Given the description of an element on the screen output the (x, y) to click on. 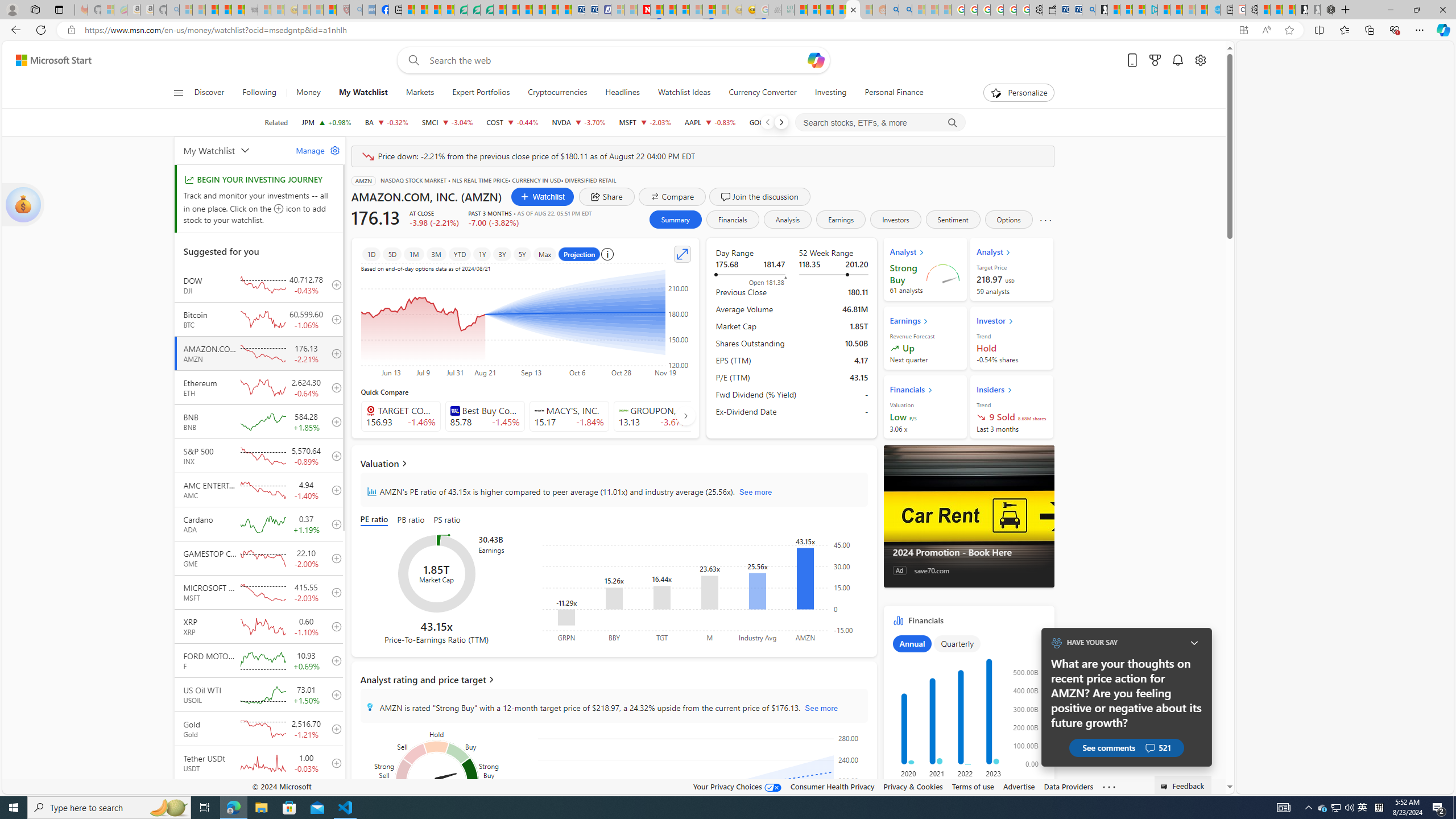
Headlines (622, 92)
Microsoft Word - consumer-privacy address update 2.2021 (486, 9)
1Y (482, 254)
Utah sues federal government - Search (905, 9)
